Given the description of an element on the screen output the (x, y) to click on. 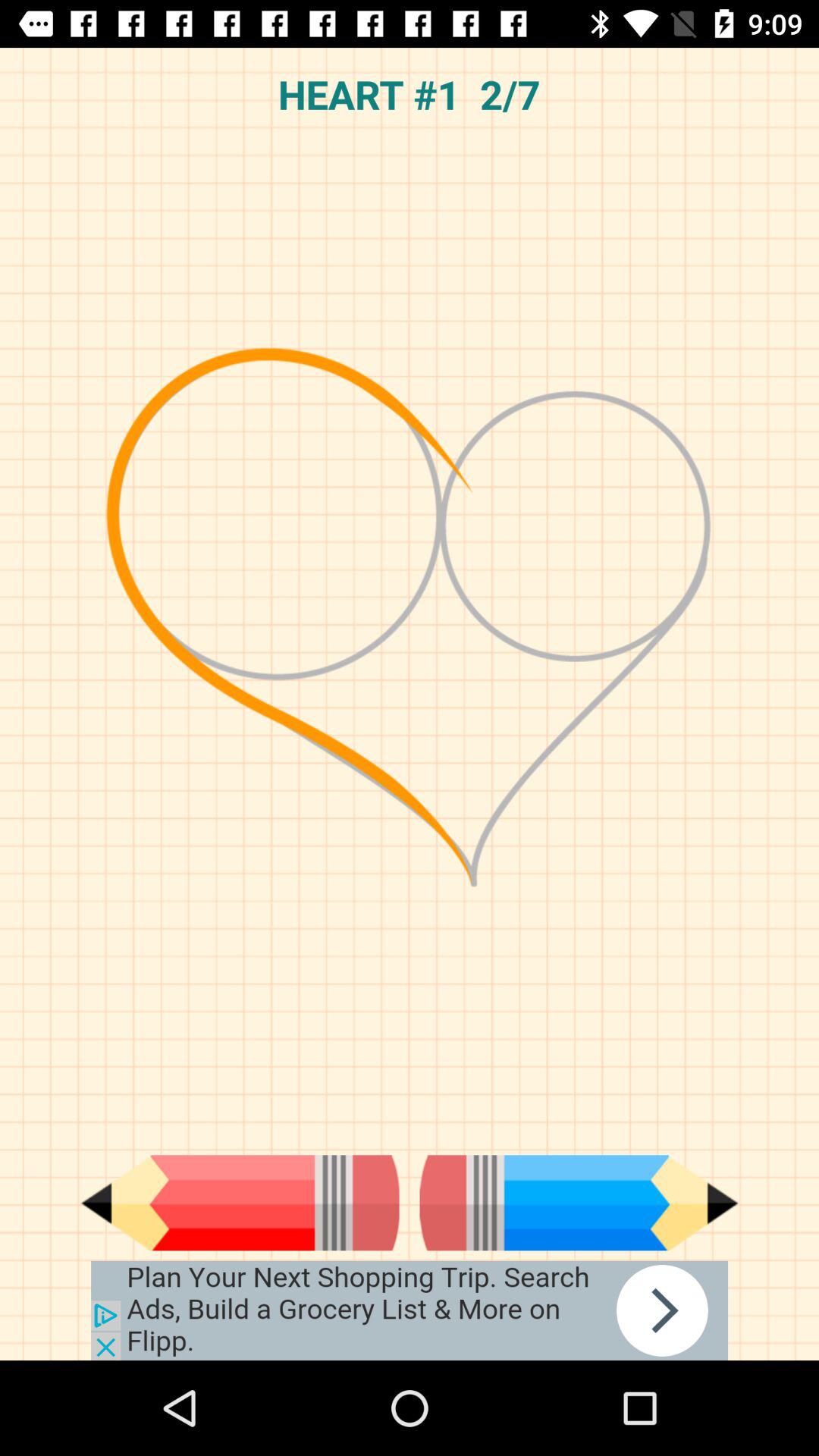
google advertisements (409, 1310)
